Given the description of an element on the screen output the (x, y) to click on. 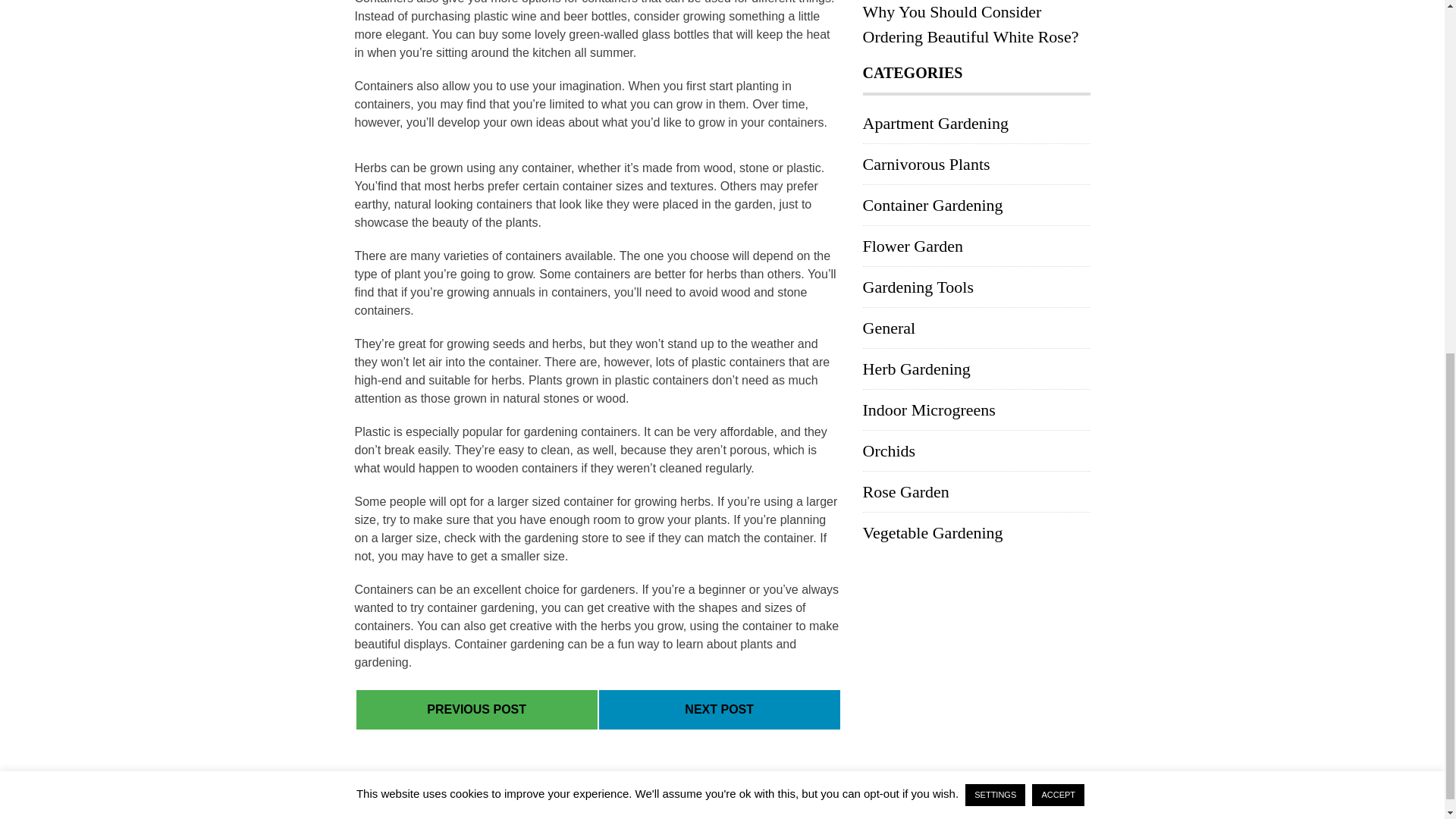
Why You Should Consider Ordering Beautiful White Rose? (970, 23)
Carnivorous Plants (926, 163)
Orchids (889, 450)
Rose Garden (906, 491)
Disclaimer (983, 800)
NEXT POST (718, 708)
Indoor Microgreens (929, 409)
NEXT POST (719, 709)
Herb Gardening (917, 368)
Privacy Policy (907, 800)
PREVIOUS POST (476, 709)
How Can Plants Grow In A Container? (718, 708)
Flower Garden (913, 245)
Container Gardening (933, 204)
Apartment Gardening (936, 122)
